Given the description of an element on the screen output the (x, y) to click on. 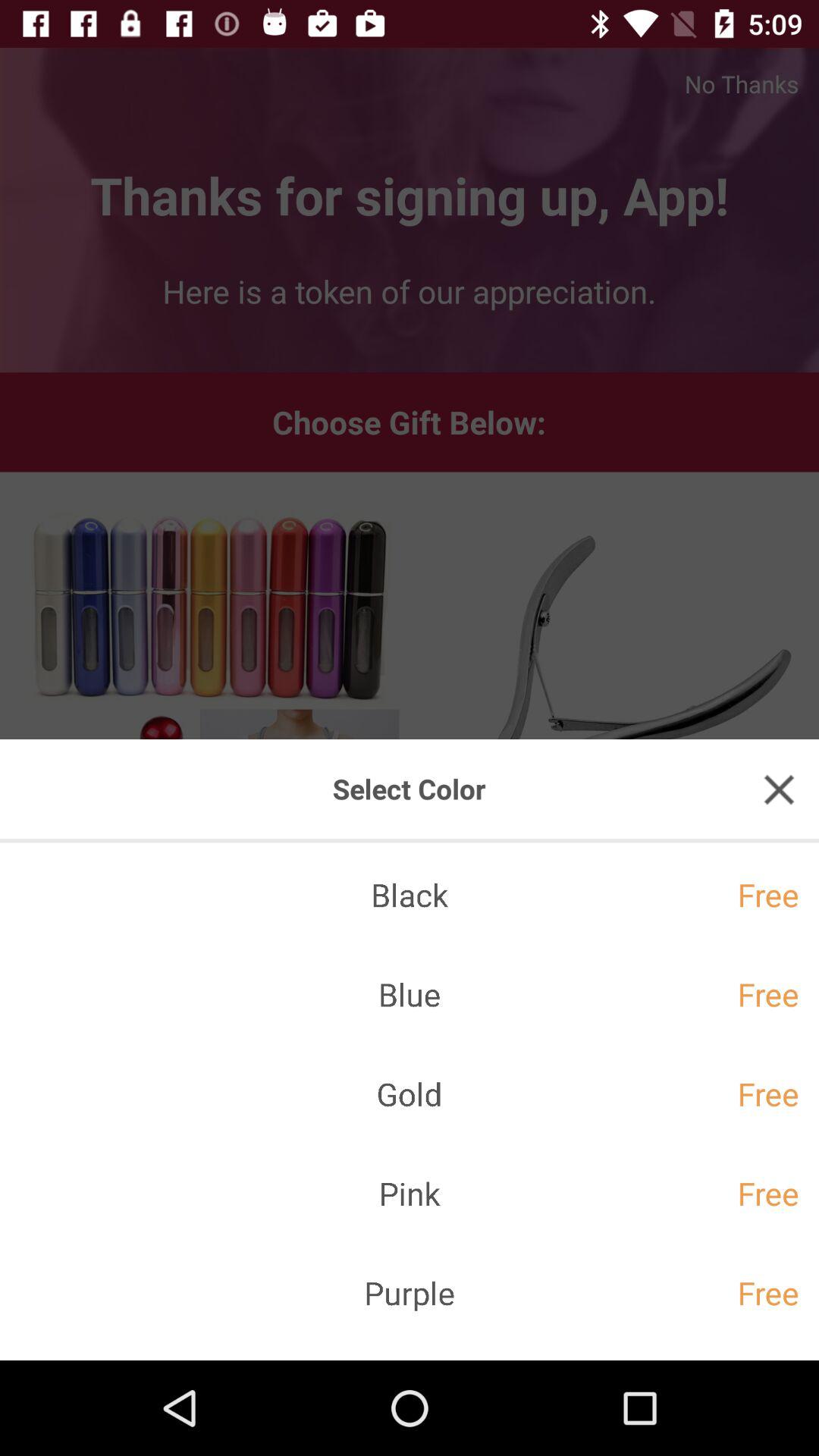
close menu (779, 788)
